Given the description of an element on the screen output the (x, y) to click on. 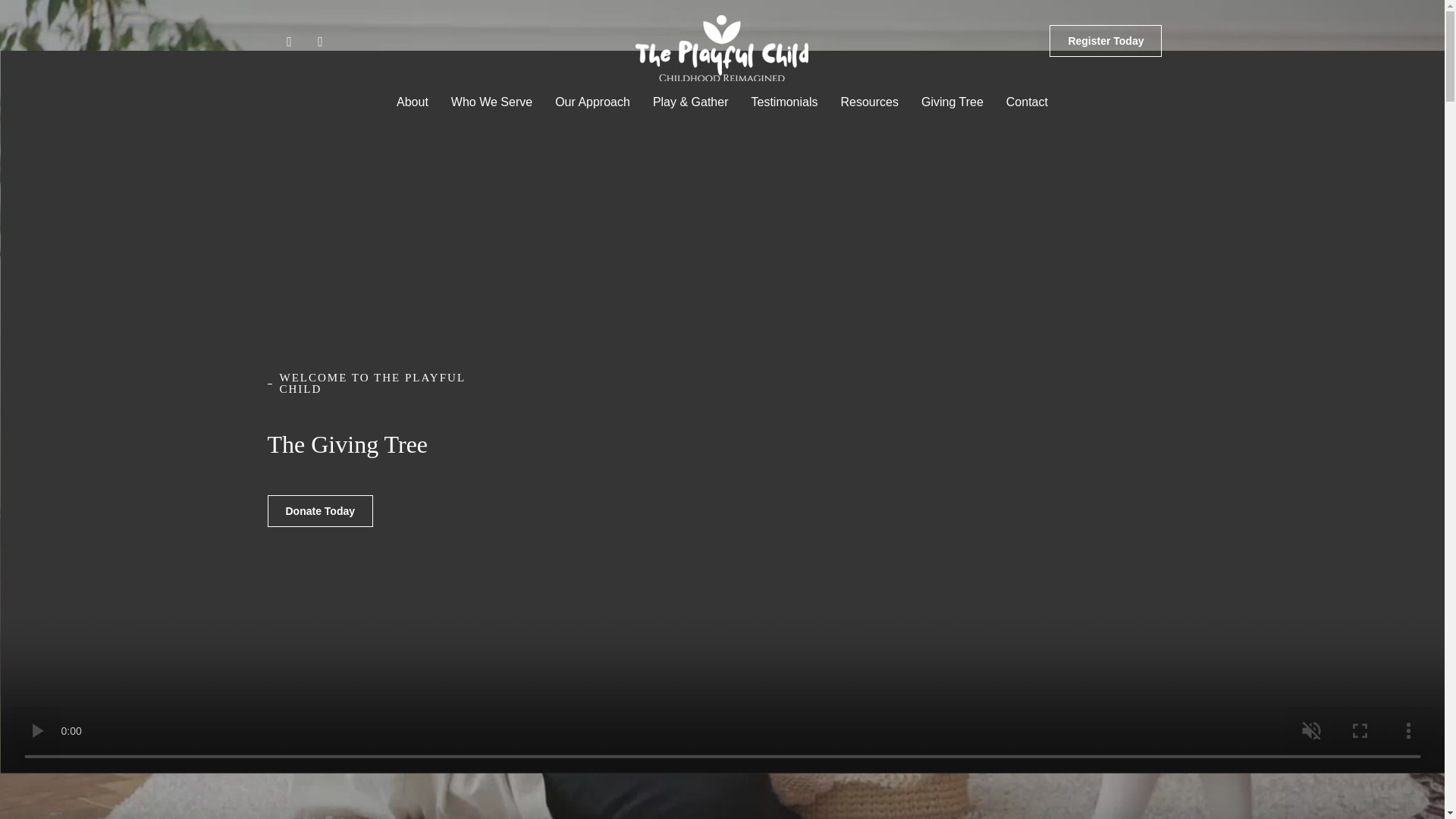
Resources (869, 102)
Our Approach (592, 102)
Donate Today (319, 511)
About (412, 102)
Register Today (1105, 40)
Giving Tree (952, 102)
Who We Serve (491, 102)
Testimonials (783, 102)
Contact (1026, 102)
Instagram (327, 48)
